Given the description of an element on the screen output the (x, y) to click on. 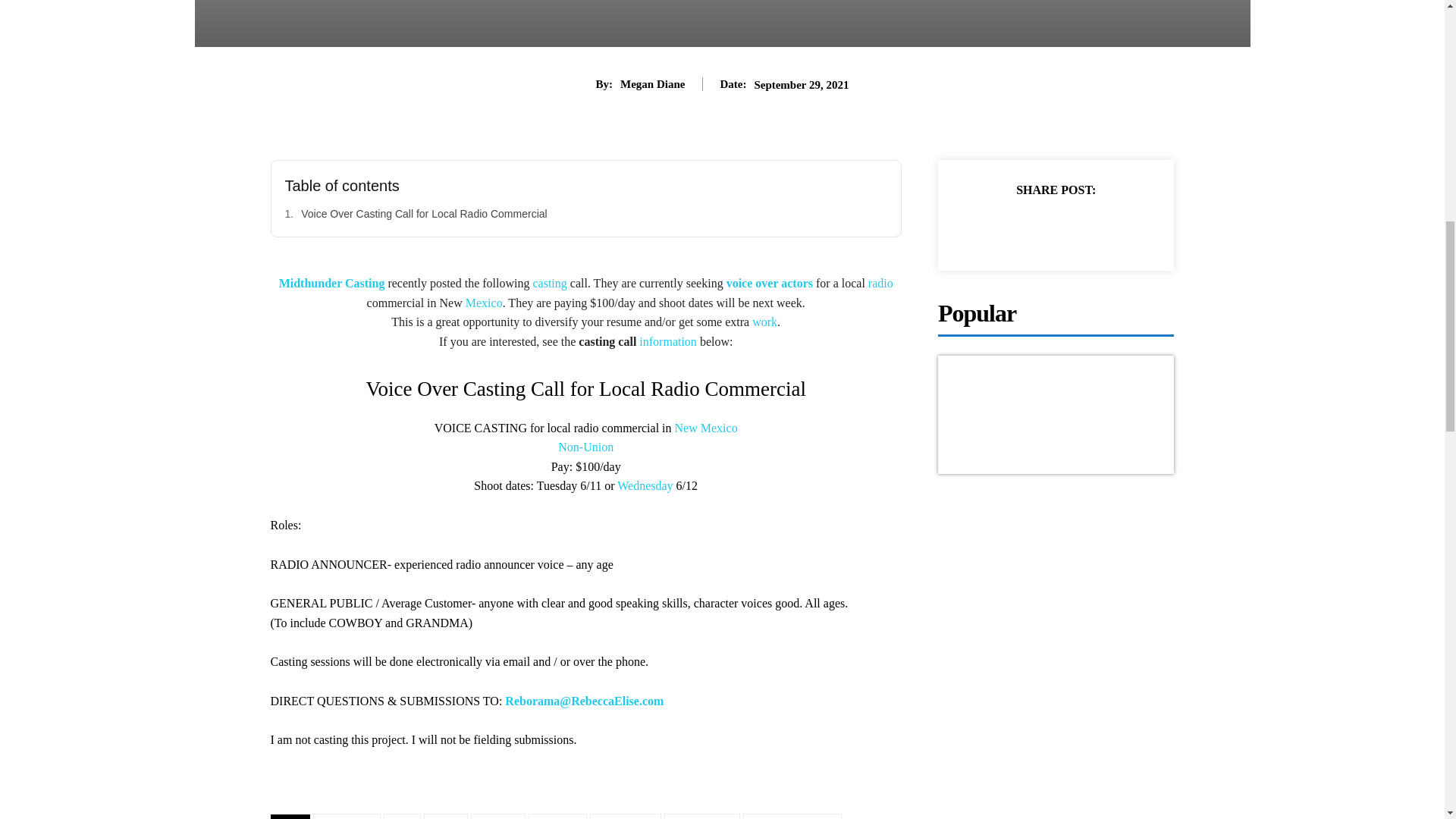
Posts tagged with radio (880, 282)
Posts tagged with casting (549, 282)
Posts tagged with Voice Over (752, 282)
Posts tagged with Actors (796, 282)
